Given the description of an element on the screen output the (x, y) to click on. 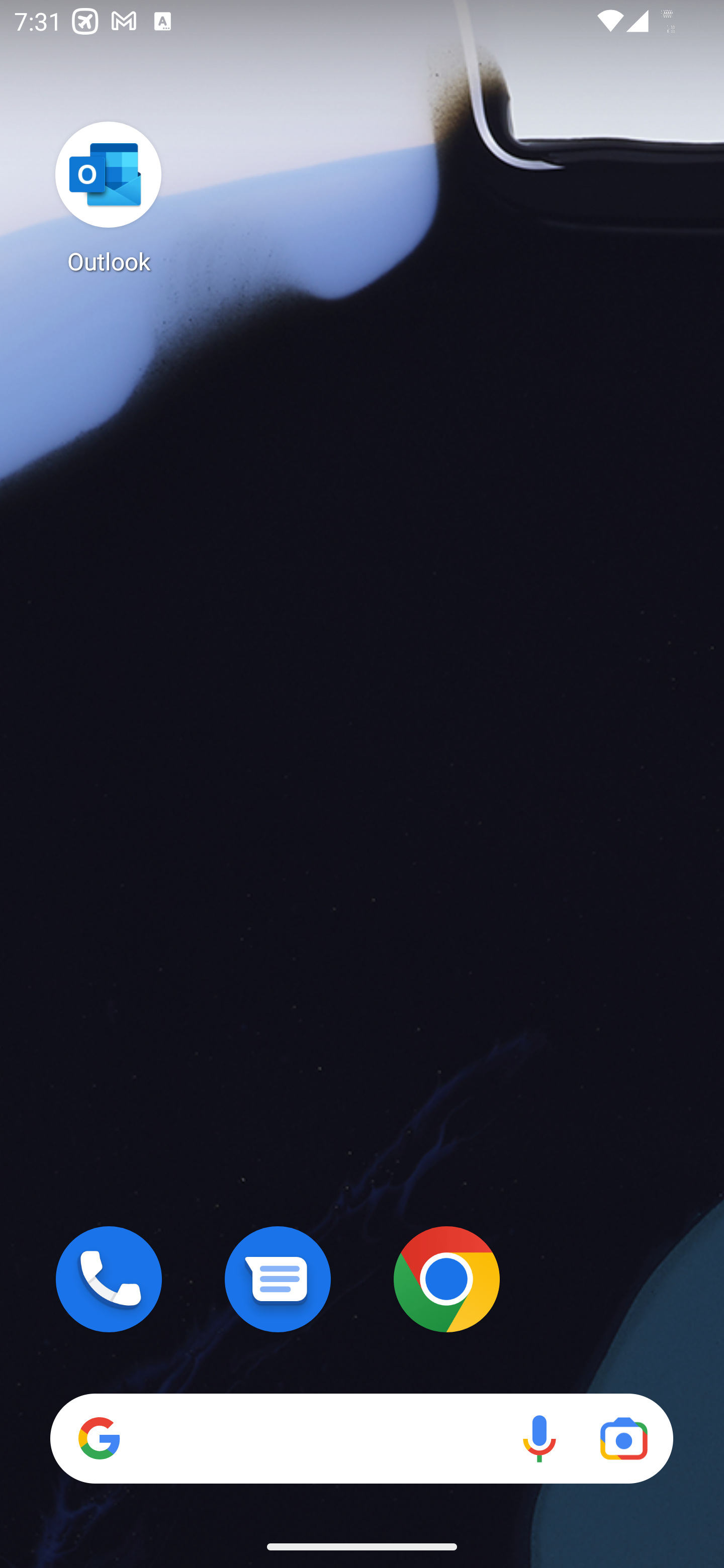
Outlook (108, 196)
Phone (108, 1279)
Messages (277, 1279)
Chrome (446, 1279)
Voice search (539, 1438)
Google Lens (623, 1438)
